Given the description of an element on the screen output the (x, y) to click on. 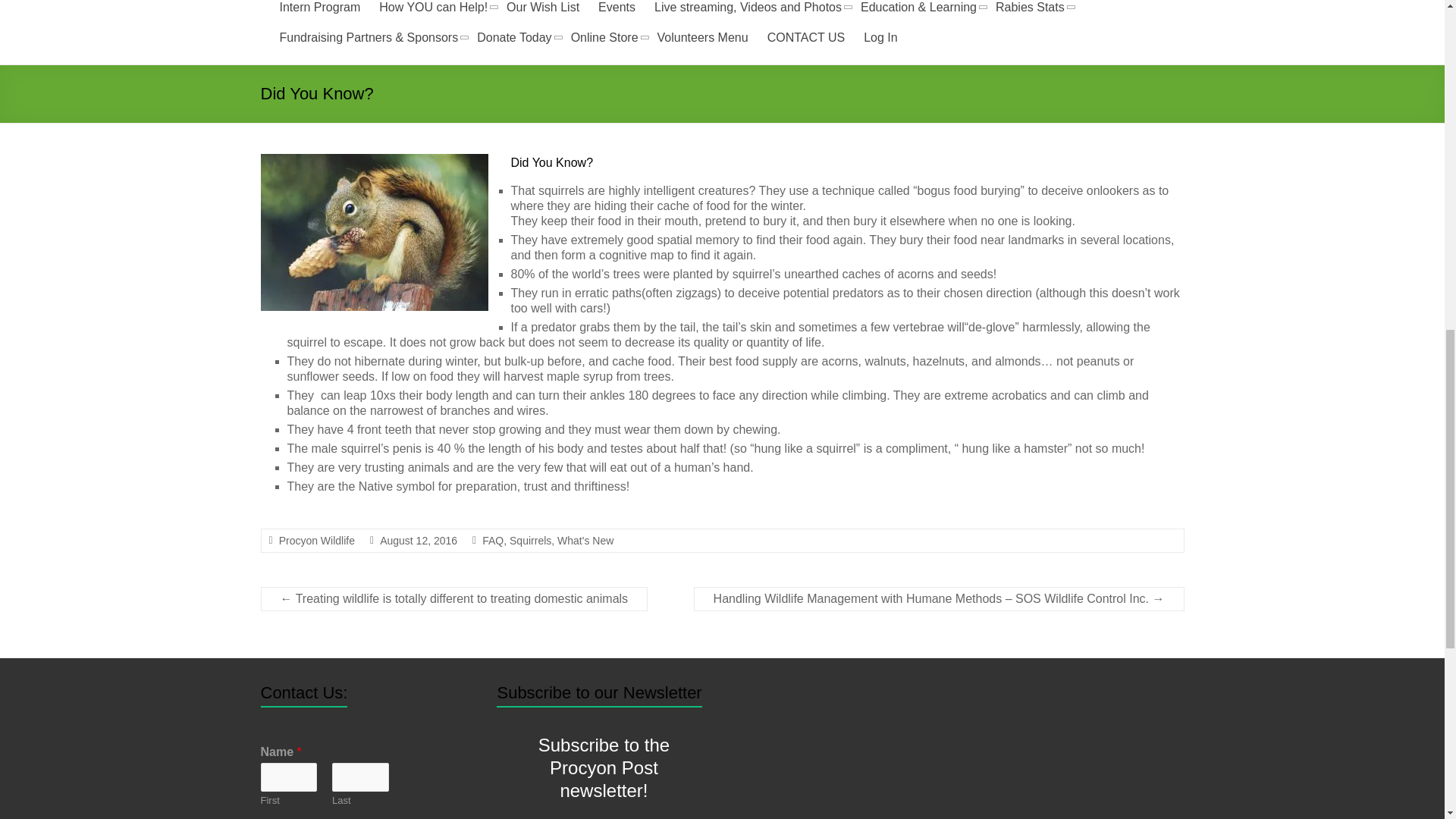
4:39 pm (418, 540)
Intern Program (319, 9)
How YOU can Help! (432, 9)
